Given the description of an element on the screen output the (x, y) to click on. 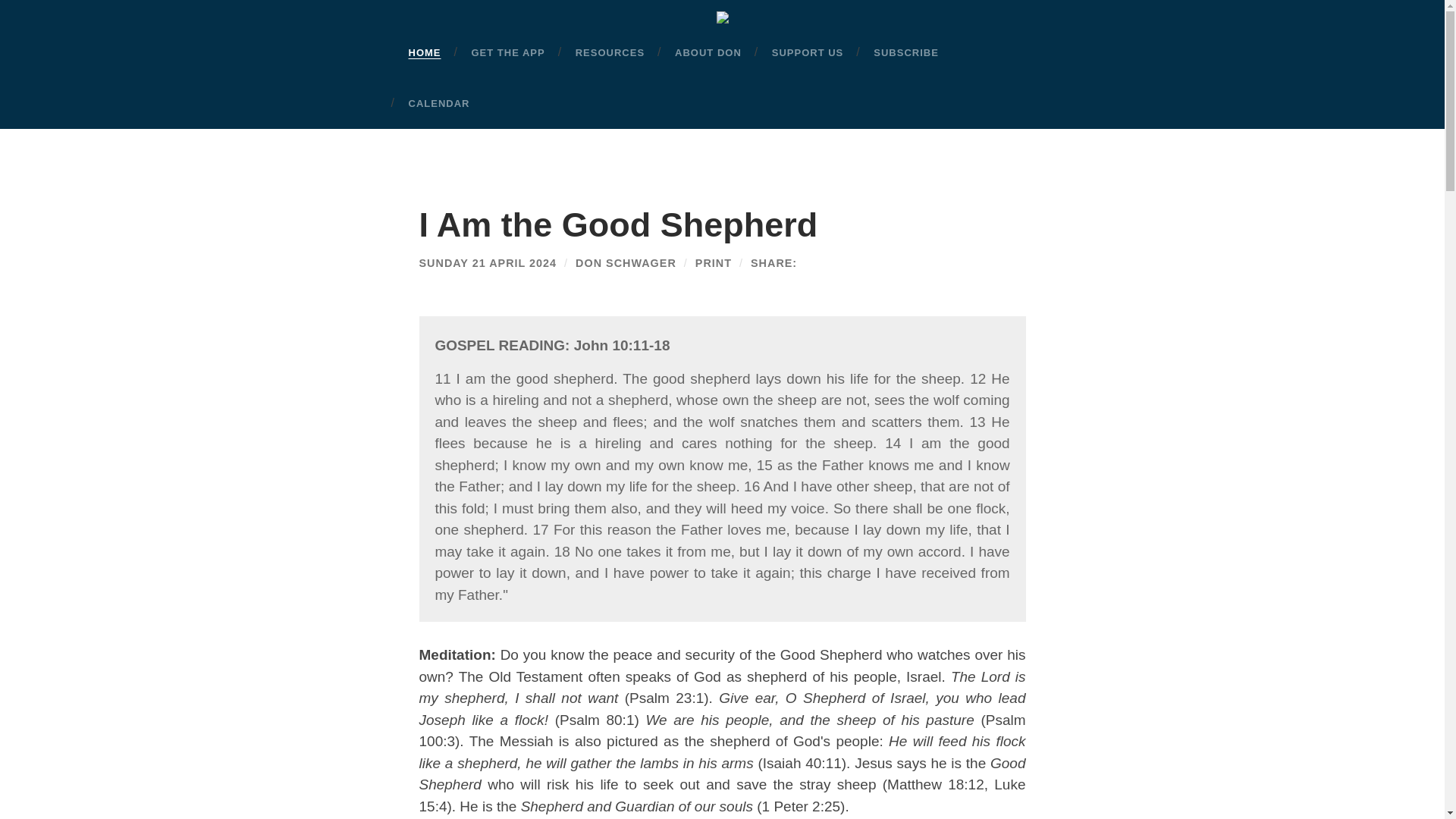
DON SCHWAGER (626, 263)
ABOUT DON (708, 52)
SUBSCRIBE (906, 52)
About Don Schwager (626, 263)
CALENDAR (438, 102)
GET THE APP (508, 52)
SUNDAY 21 APRIL 2024 (487, 263)
Print this reading (713, 263)
RESOURCES (609, 52)
PRINT (713, 263)
